Given the description of an element on the screen output the (x, y) to click on. 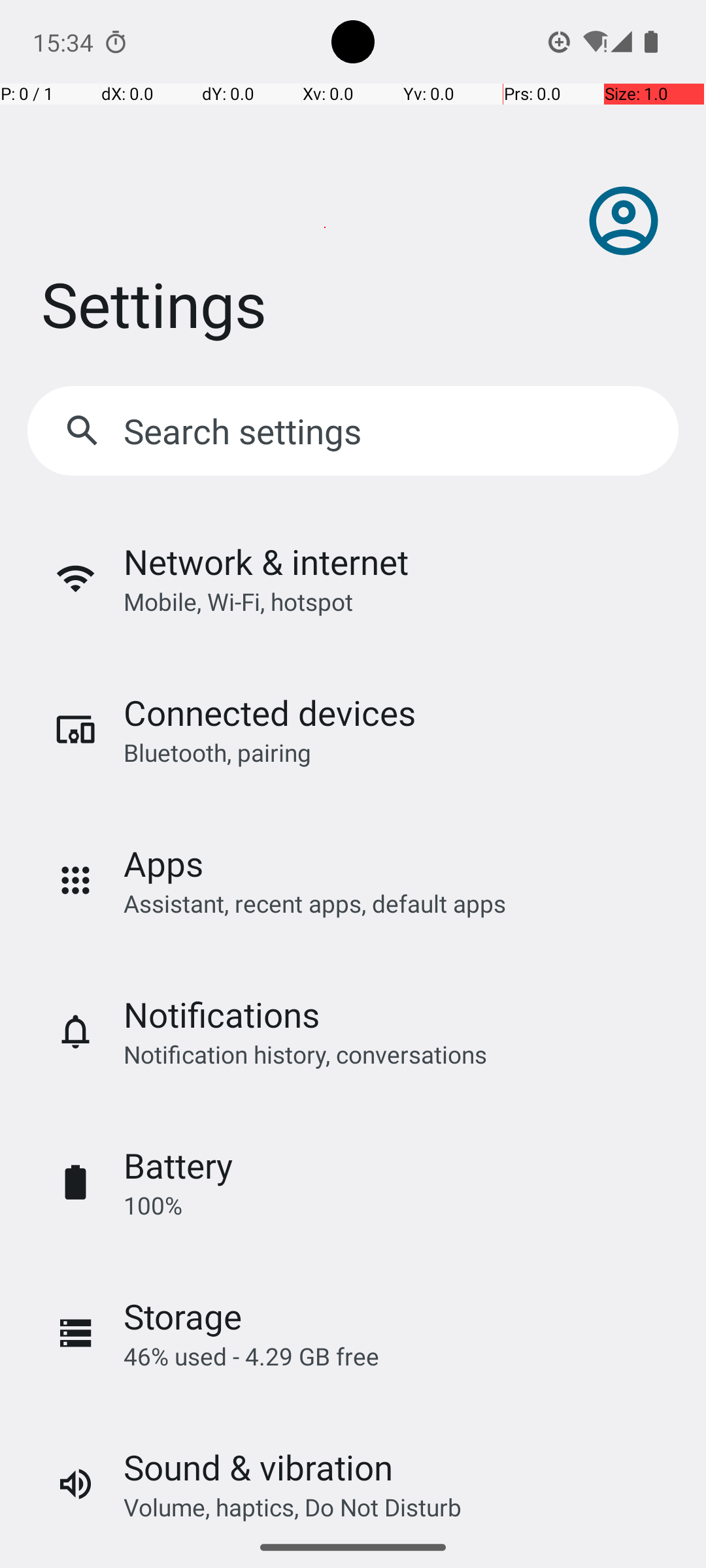
46% used - 4.29 GB free Element type: android.widget.TextView (251, 1355)
